Given the description of an element on the screen output the (x, y) to click on. 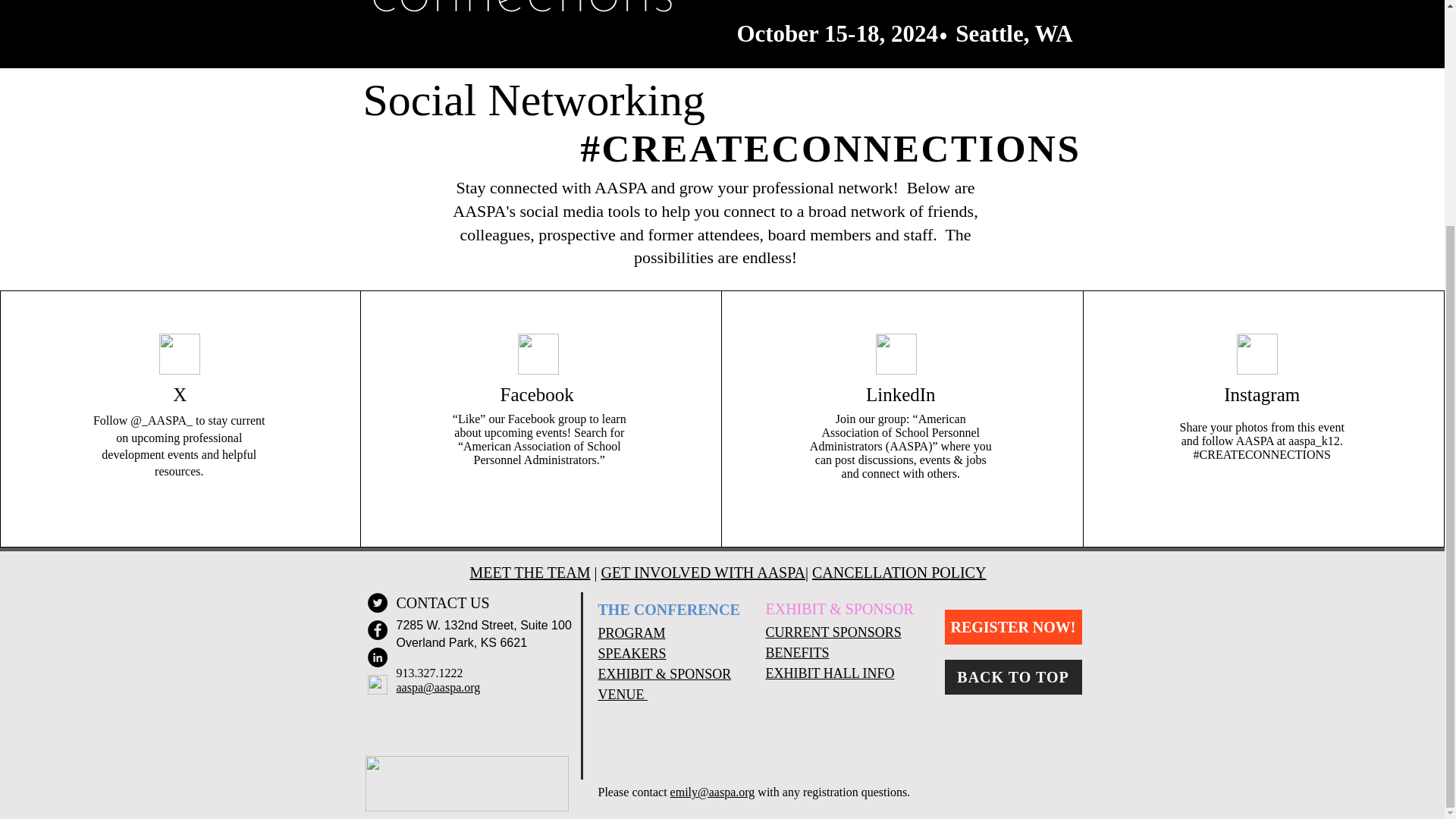
MEET THE TEAM (530, 572)
GET INVOLVED WITH AASPA (702, 572)
AASPA logo.png (467, 783)
